Given the description of an element on the screen output the (x, y) to click on. 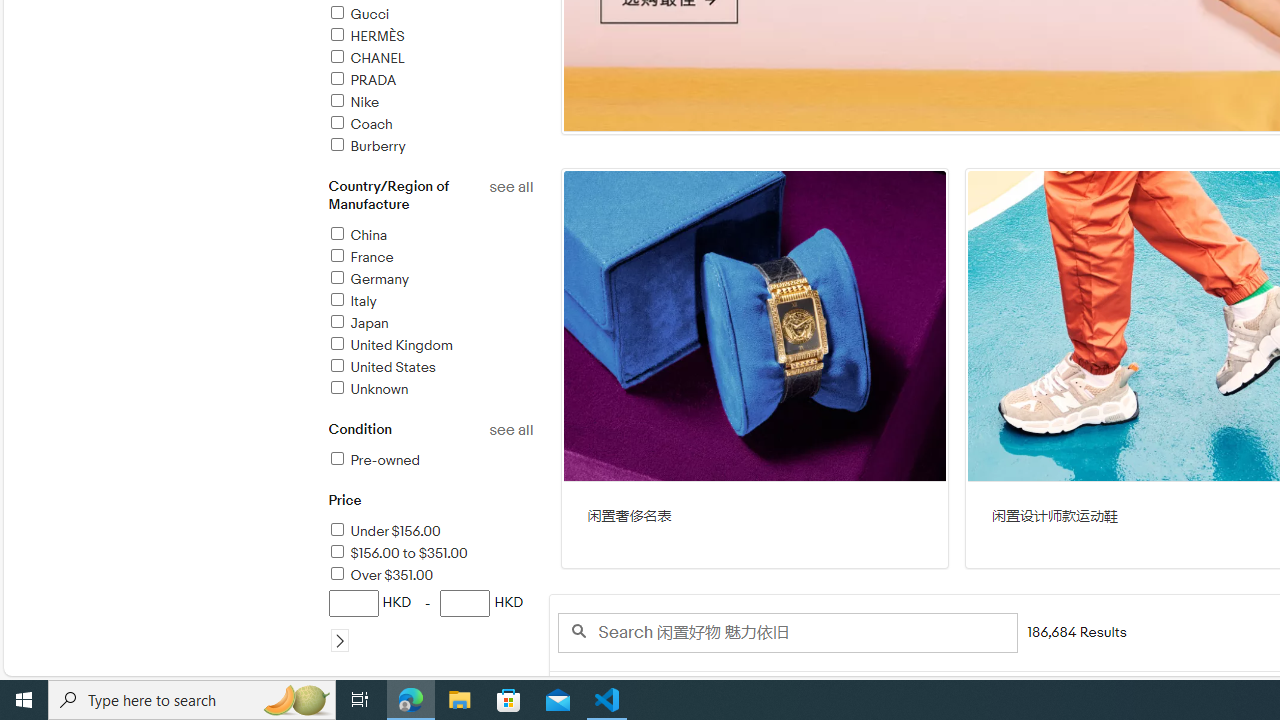
Nike (353, 102)
HKD-HKD (430, 619)
Under $156.00 (430, 532)
United Kingdom (430, 345)
Unknown (430, 390)
France (430, 258)
Burberry (365, 146)
Under $156.00 (383, 531)
United States (381, 367)
Over $351.00 (379, 575)
Burberry (430, 147)
PRADA (361, 80)
Minimum Value (352, 603)
